Given the description of an element on the screen output the (x, y) to click on. 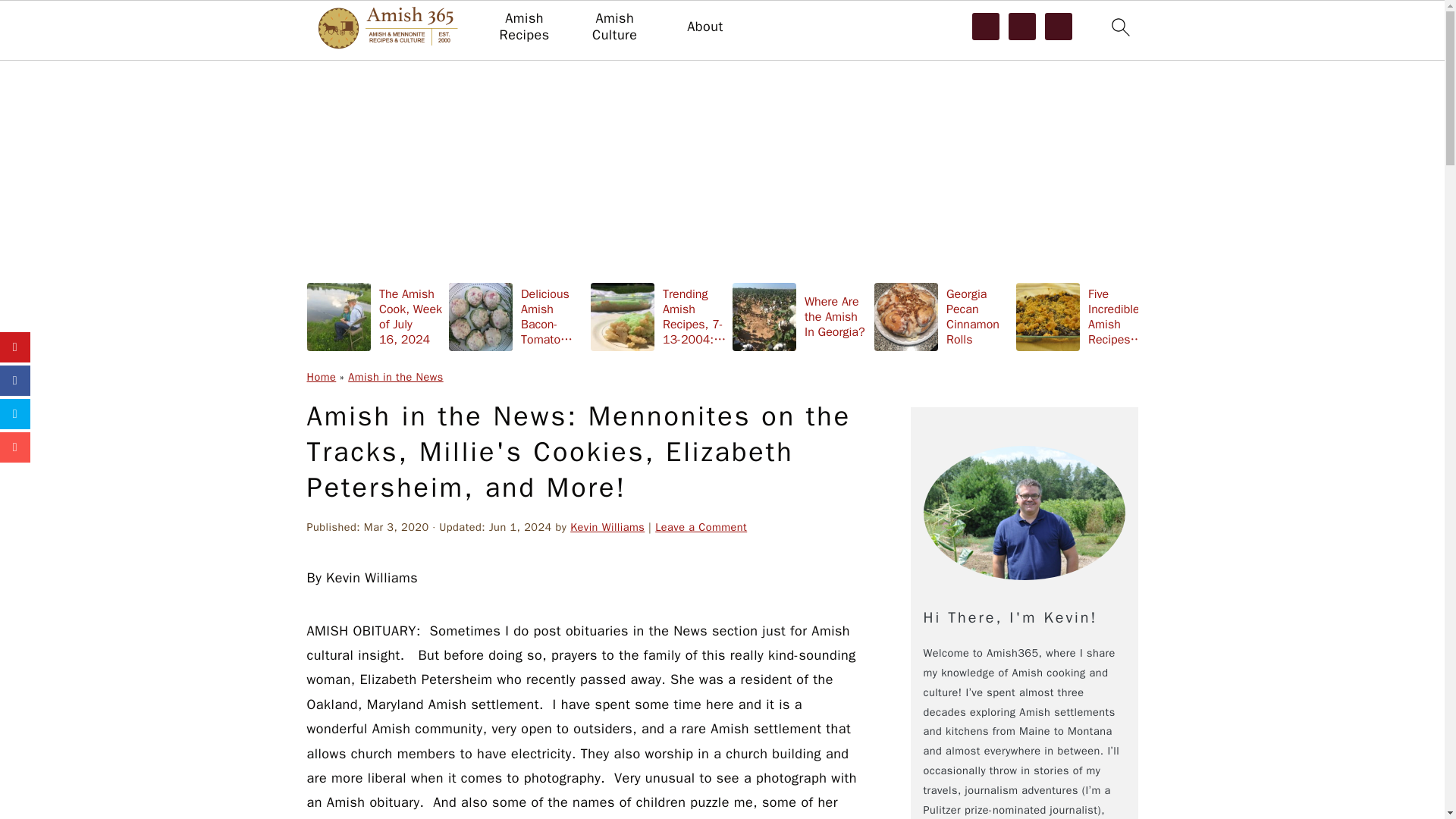
Amish Recipes (523, 26)
The Amish Cook, Week of July 8, 2024 (1225, 316)
search icon (1119, 26)
Where Are the Amish In Georgia? (800, 316)
The Amish Cook, Week of July 16, 2024 (373, 316)
Amish Culture (615, 26)
Delicious Amish Bacon-Tomato Spread (516, 316)
search icon (1119, 31)
Five Incredible Amish Recipes Bursting With Raisin Goodness (1084, 316)
About (704, 27)
Georgia Pecan Cinnamon Rolls (941, 316)
